Given the description of an element on the screen output the (x, y) to click on. 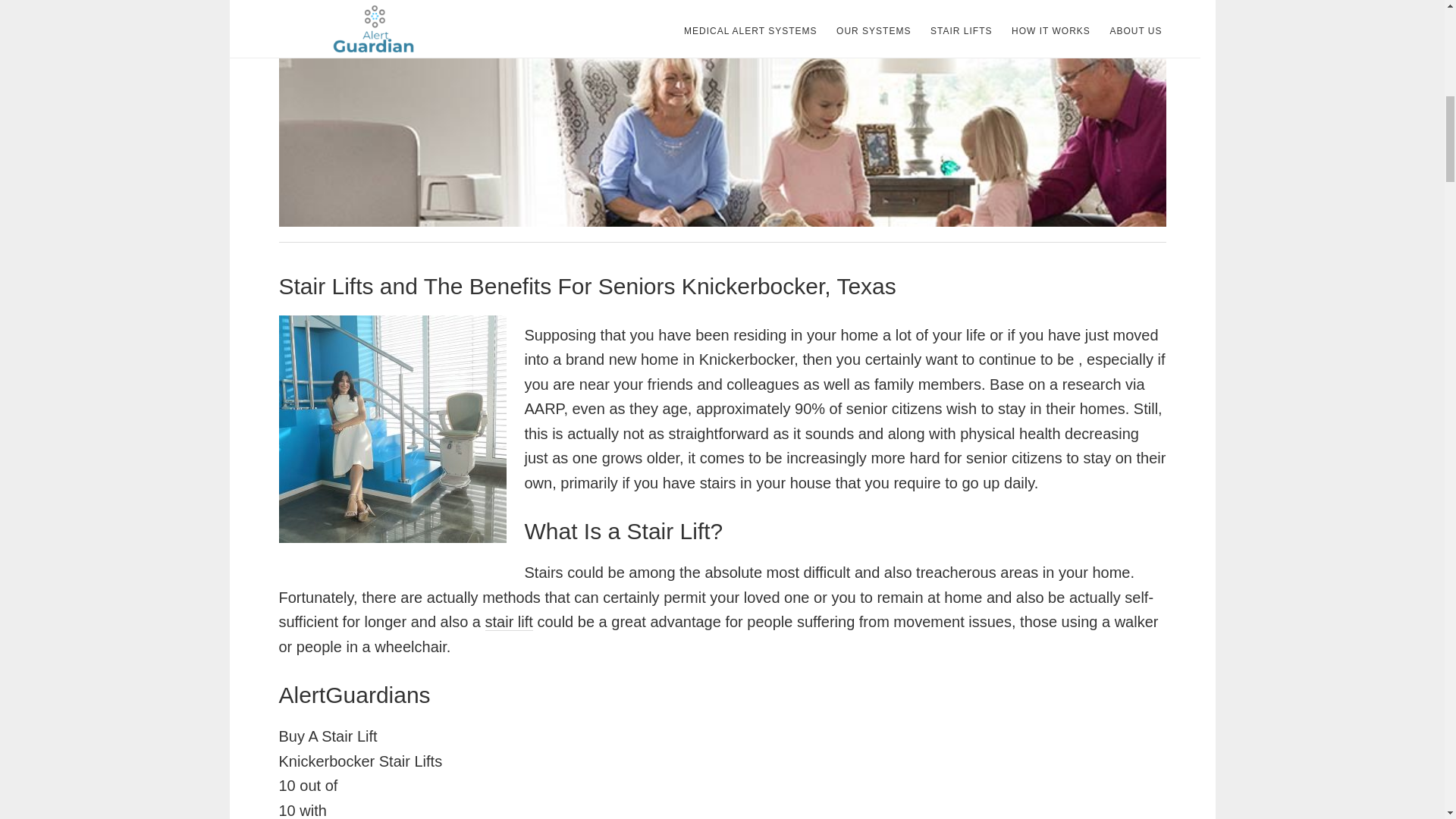
stair lift (508, 621)
